Given the description of an element on the screen output the (x, y) to click on. 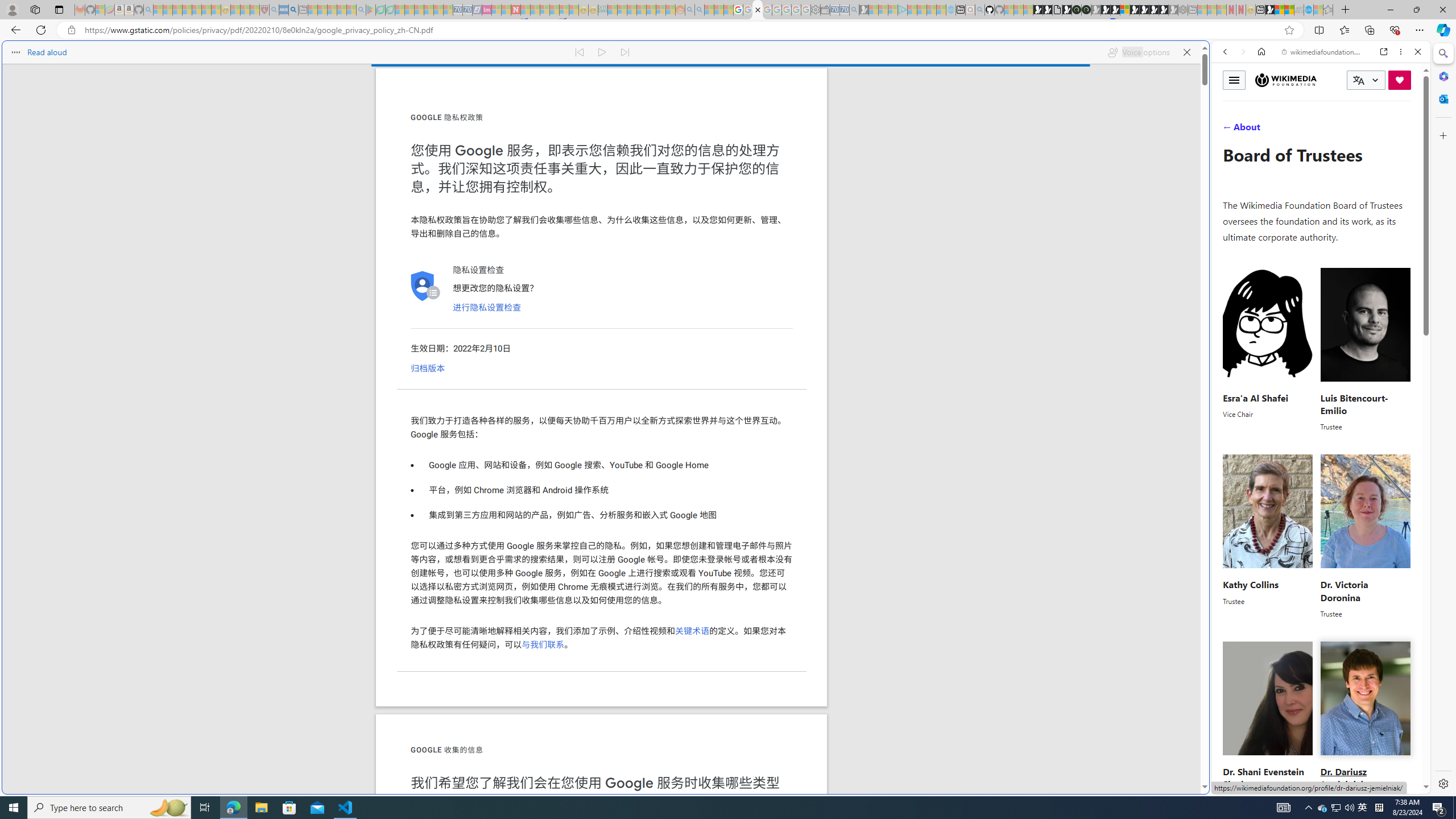
Read next paragraph (624, 52)
